Given the description of an element on the screen output the (x, y) to click on. 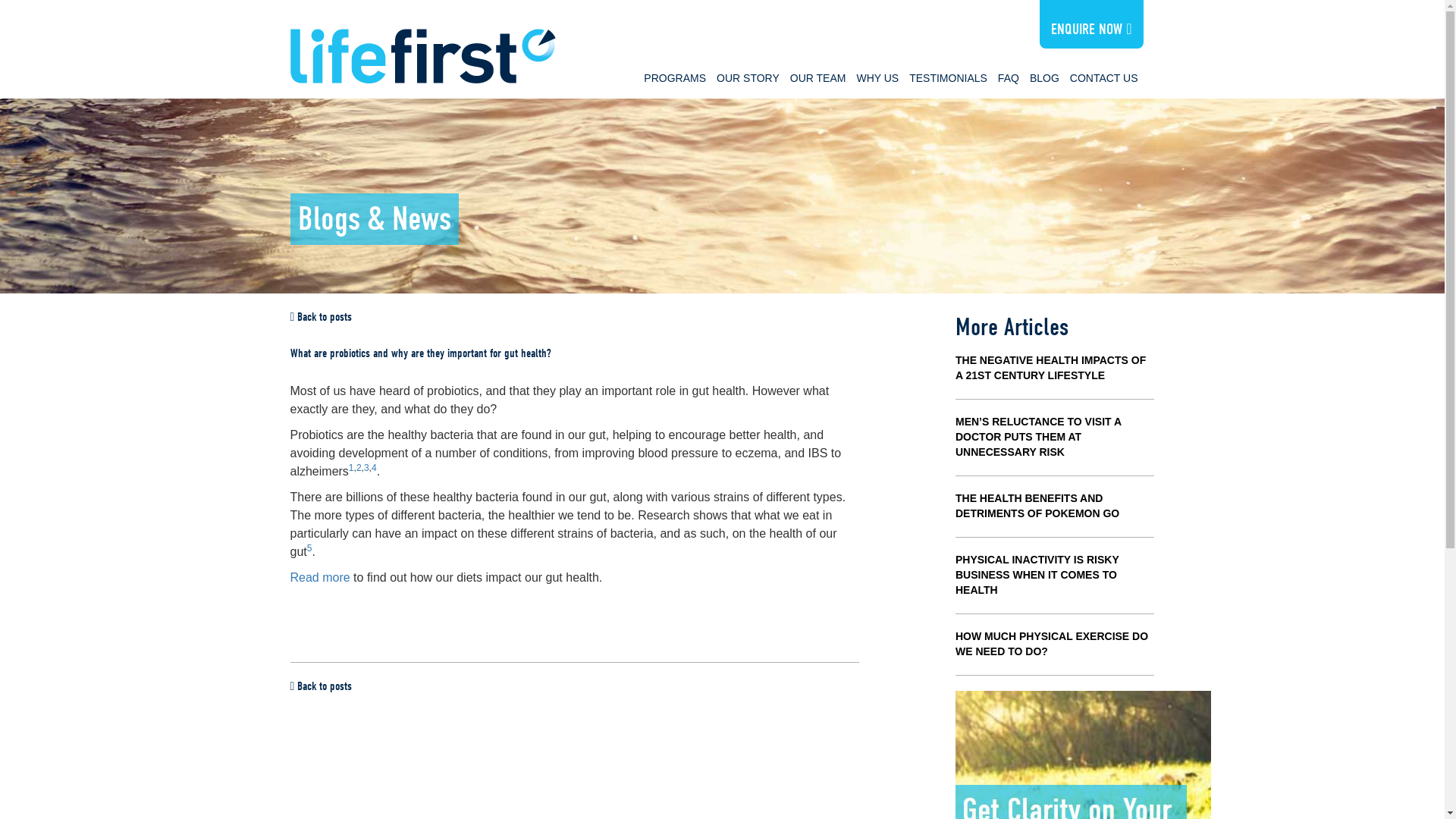
FAQ (1008, 77)
The Negative Health Impacts of a 21st Century Lifestyle (1050, 367)
HOW MUCH PHYSICAL EXERCISE DO WE NEED TO DO? (1051, 643)
OUR STORY (747, 77)
THE HEALTH BENEFITS AND DETRIMENTS OF POKEMON GO (1037, 505)
BLOG (1044, 77)
TESTIMONIALS (948, 77)
WHY US (877, 77)
ENQUIRE NOW (1091, 28)
